Given the description of an element on the screen output the (x, y) to click on. 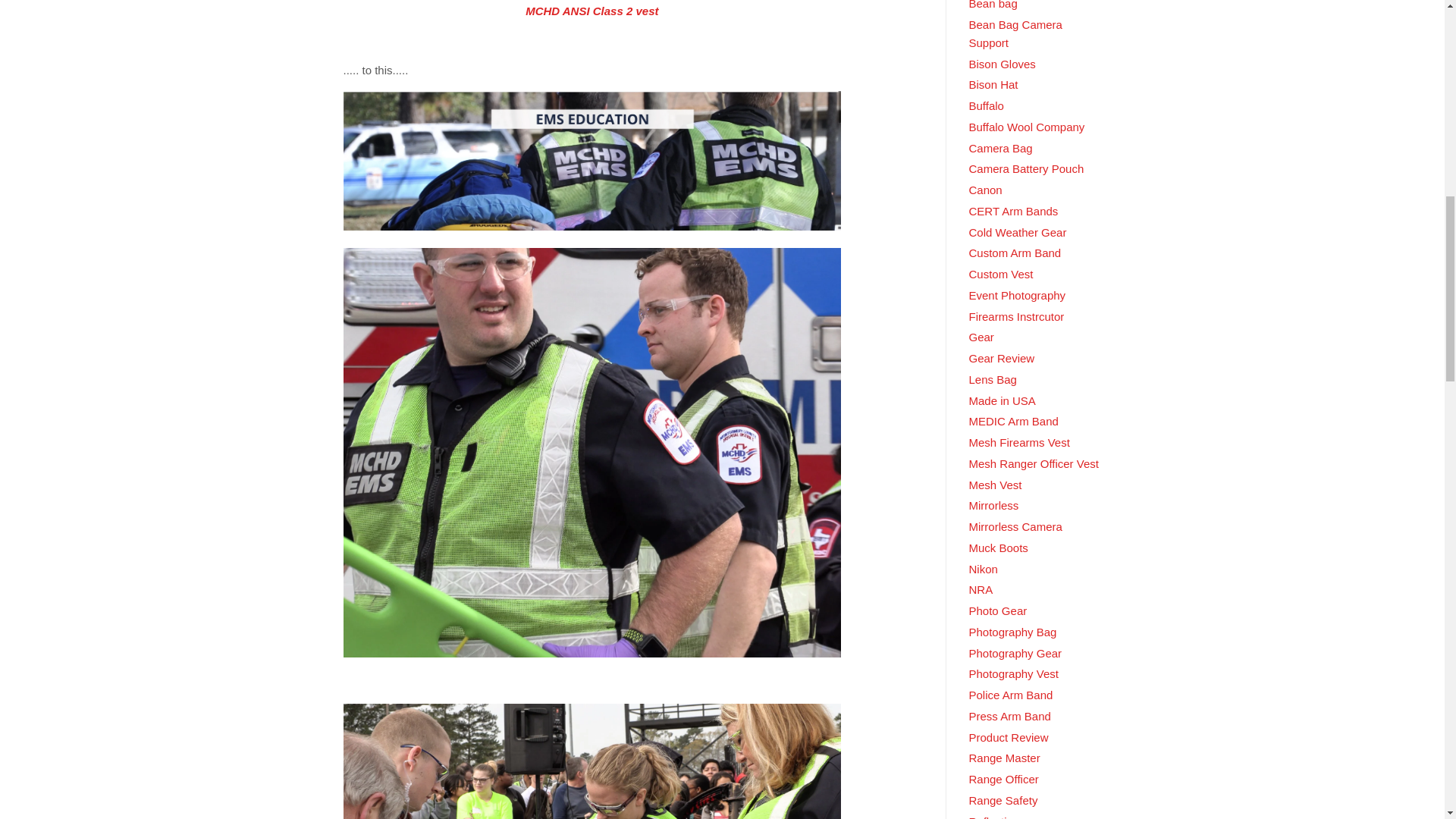
Show articles tagged Camera Bag (1000, 147)
Show articles tagged Buffalo Wool Company (1026, 126)
Show articles tagged Bean Bag Camera Support (1015, 33)
Show articles tagged Buffalo (986, 105)
Show articles tagged Bean bag (993, 4)
Show articles tagged Bison Hat (993, 83)
Show articles tagged Bison Gloves (1002, 63)
Show articles tagged Camera Battery Pouch (1026, 168)
Show articles tagged Canon (986, 189)
